Given the description of an element on the screen output the (x, y) to click on. 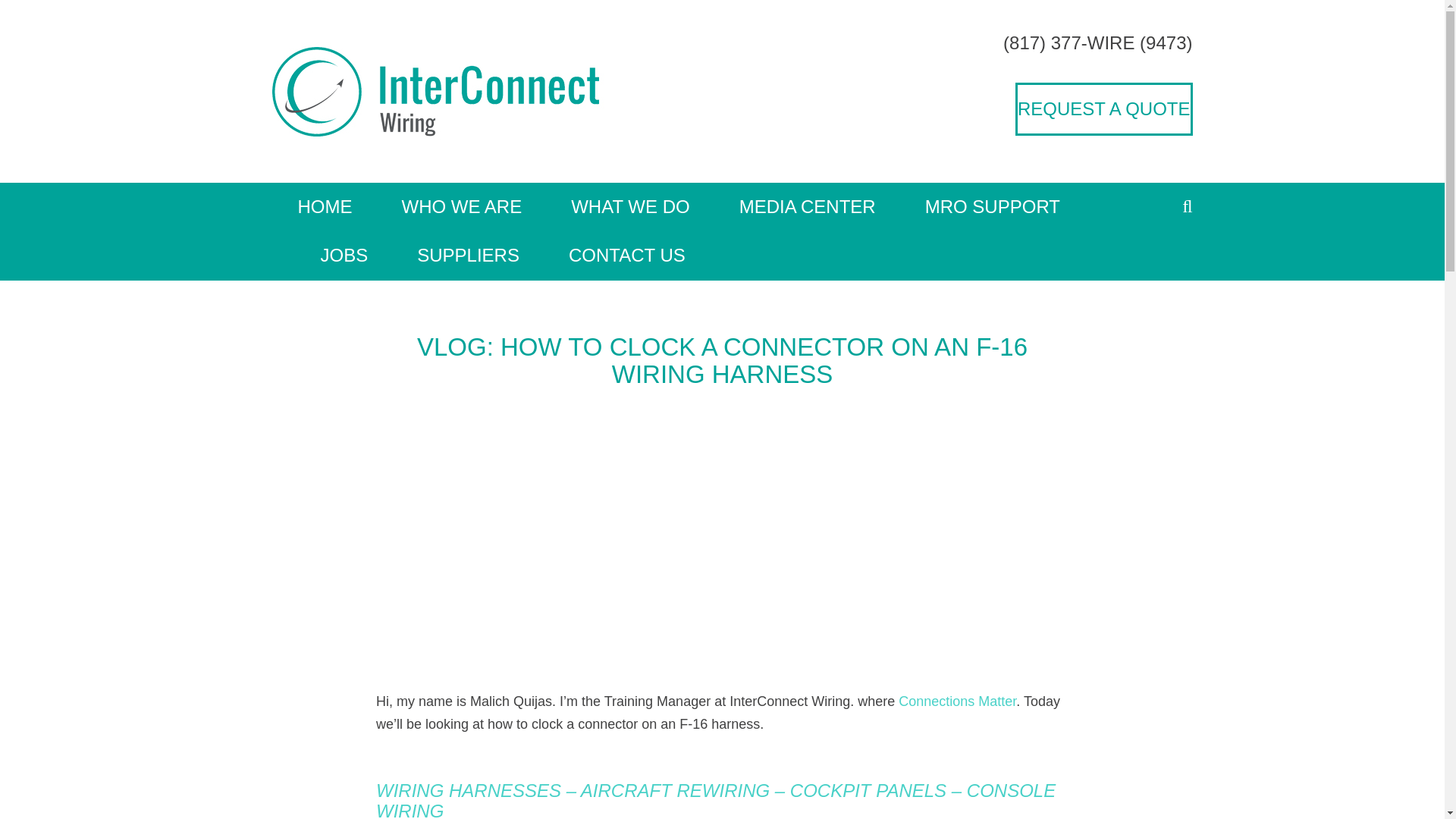
JOBS (343, 255)
HOME (335, 206)
WHO WE ARE (461, 206)
REQUEST A QUOTE (1103, 108)
SUPPLIERS (467, 255)
VLOG: How to Clock a Connector on an F 16 Wiring Harness (580, 529)
CONTACT US (615, 255)
MRO SUPPORT (992, 206)
WHAT WE DO (629, 206)
MEDIA CENTER (807, 206)
